Given the description of an element on the screen output the (x, y) to click on. 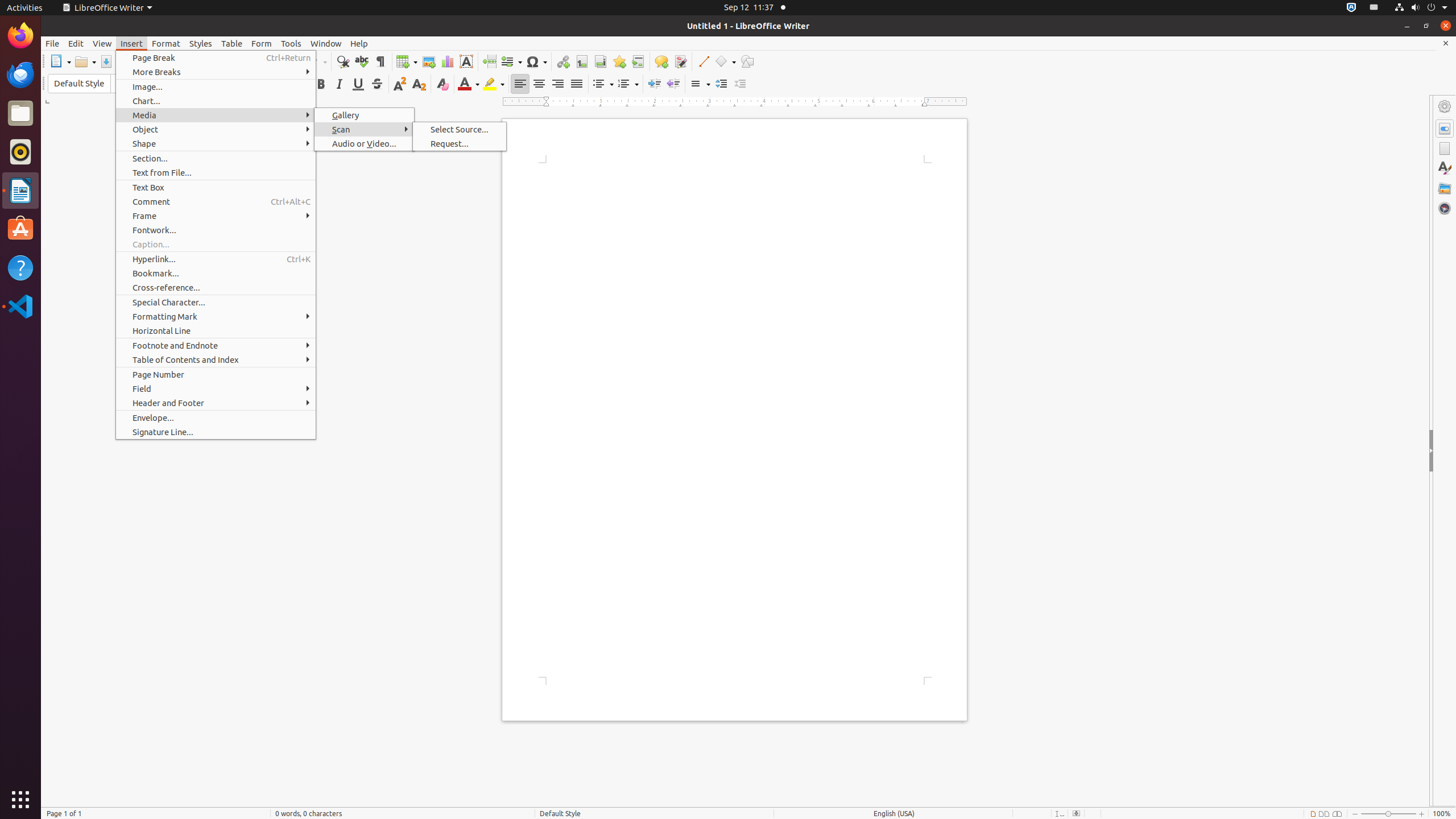
Find & Replace Element type: toggle-button (342, 61)
Media Element type: menu (215, 115)
Section... Element type: menu-item (215, 158)
Open Element type: push-button (84, 61)
Audio or Video... Element type: menu-item (364, 143)
